Given the description of an element on the screen output the (x, y) to click on. 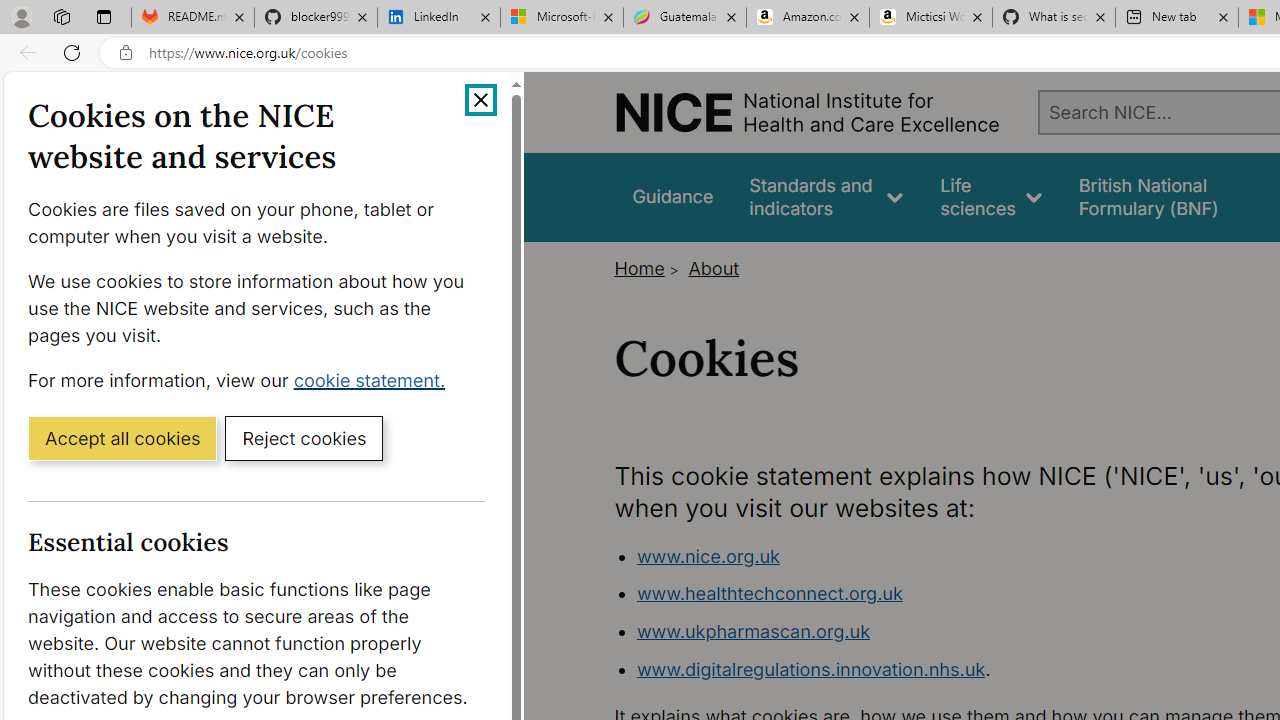
LinkedIn (438, 17)
Life sciences (991, 196)
Life sciences (991, 196)
About (713, 268)
false (1167, 196)
Reject cookies (304, 437)
www.nice.org.uk (707, 556)
Close cookie banner (480, 99)
